Given the description of an element on the screen output the (x, y) to click on. 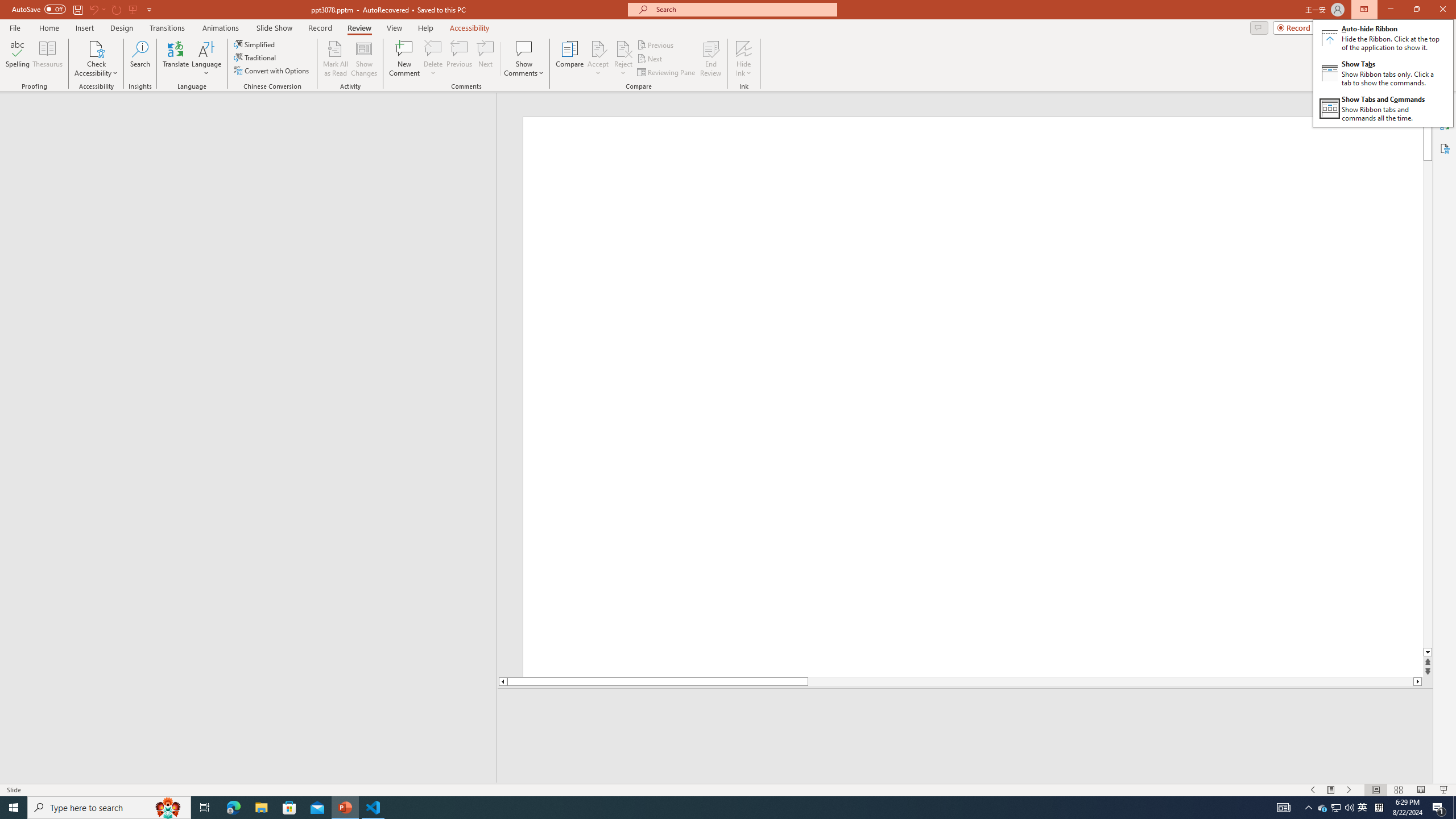
Reject Change (622, 48)
Slide Show Next On (1349, 790)
Show Changes (363, 58)
